Given the description of an element on the screen output the (x, y) to click on. 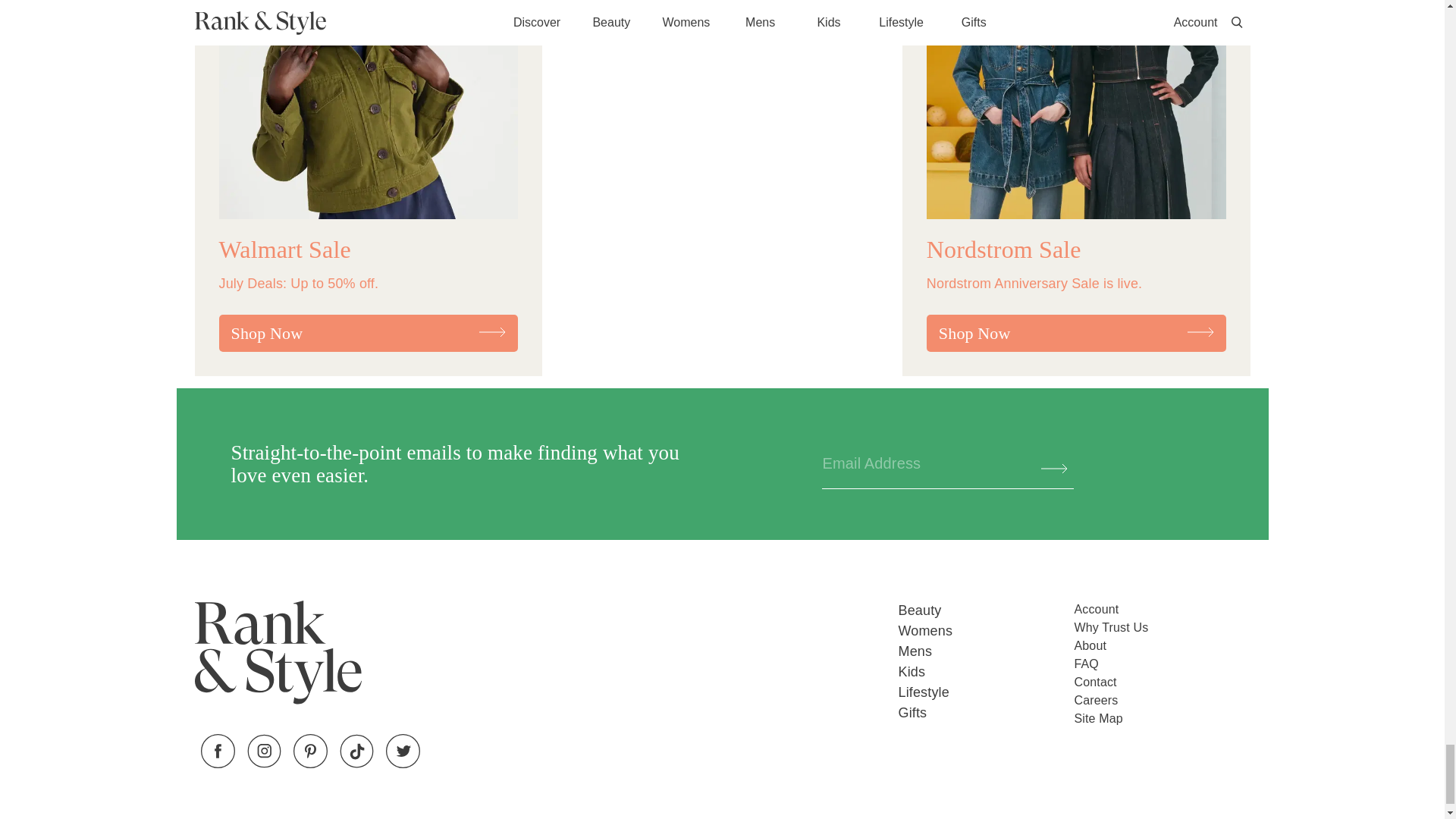
Womens Product Reviews (986, 630)
Beauty Product Reviews (986, 610)
Mens Product Reviews (986, 651)
Gifts Product Reviews (986, 712)
Kids Product Reviews (986, 671)
How We Rank Products (1161, 628)
Lifestyle Product Reviews (986, 692)
